Given the description of an element on the screen output the (x, y) to click on. 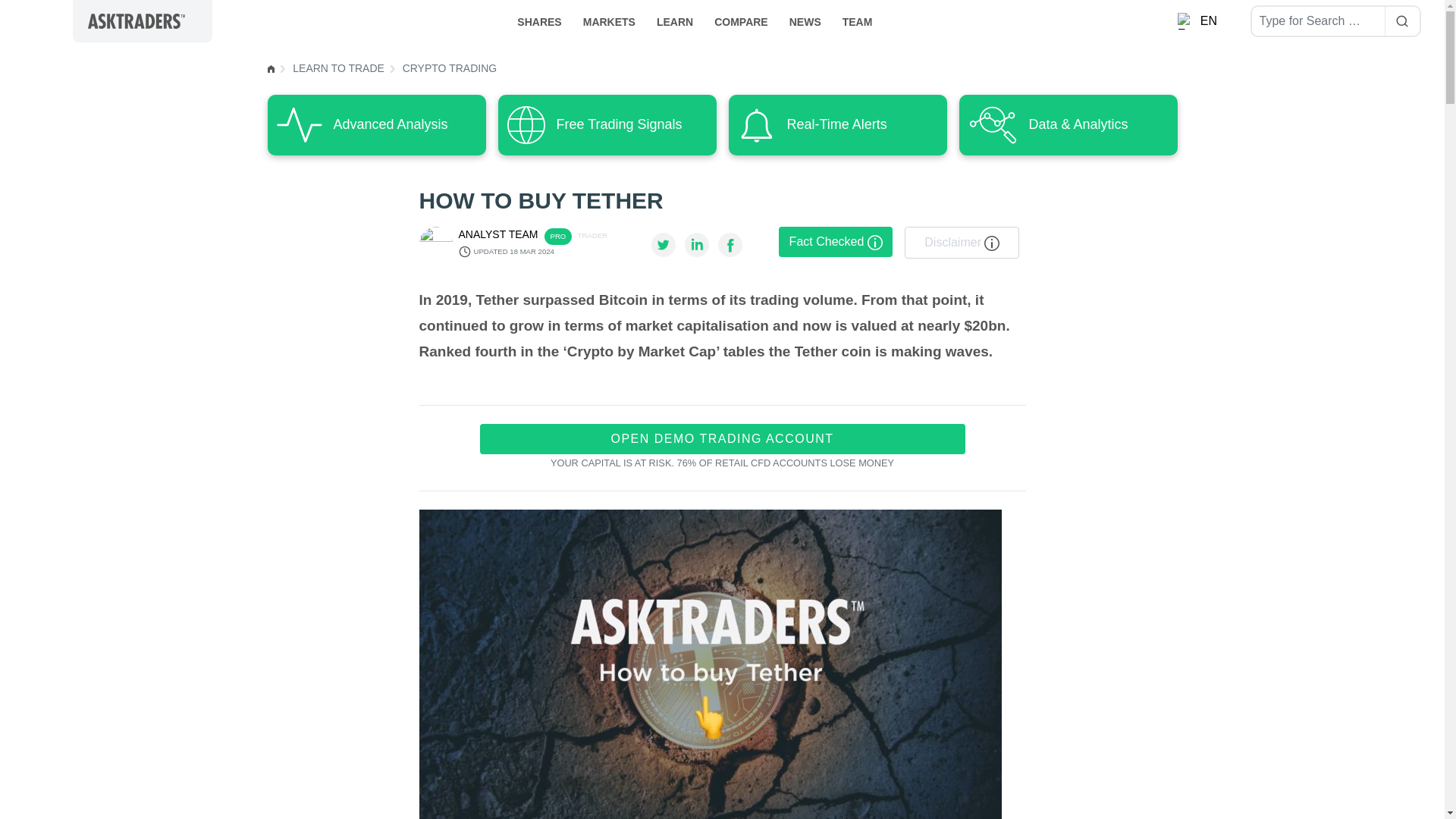
COMPARE (740, 20)
NEWS (804, 20)
LEARN (674, 20)
MARKETS (609, 20)
EN (1198, 21)
SHARES (539, 20)
